Given the description of an element on the screen output the (x, y) to click on. 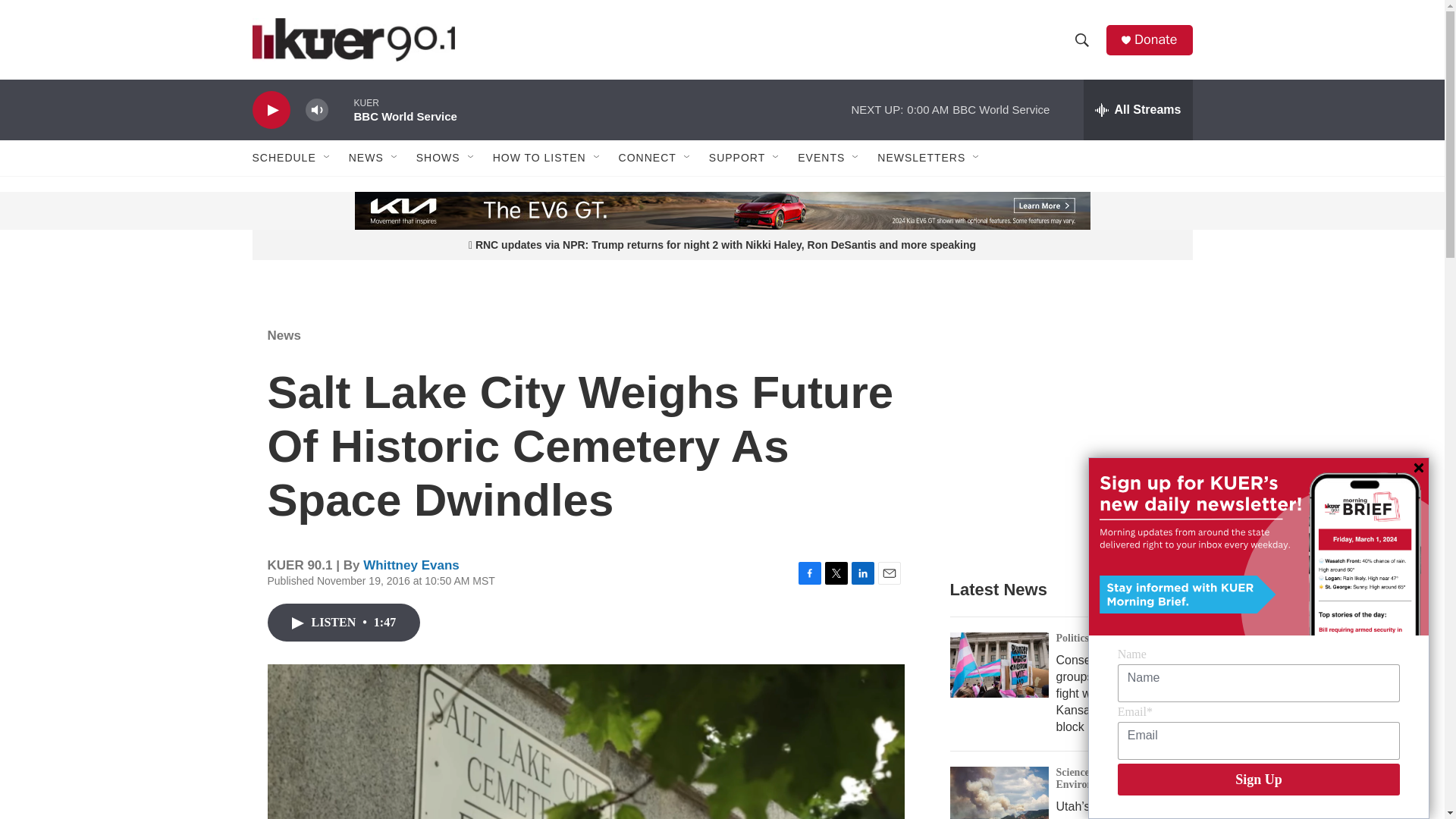
3rd party ad content (367, 210)
3rd party ad content (1062, 434)
Sign Up (1259, 779)
Close (1418, 468)
